Given the description of an element on the screen output the (x, y) to click on. 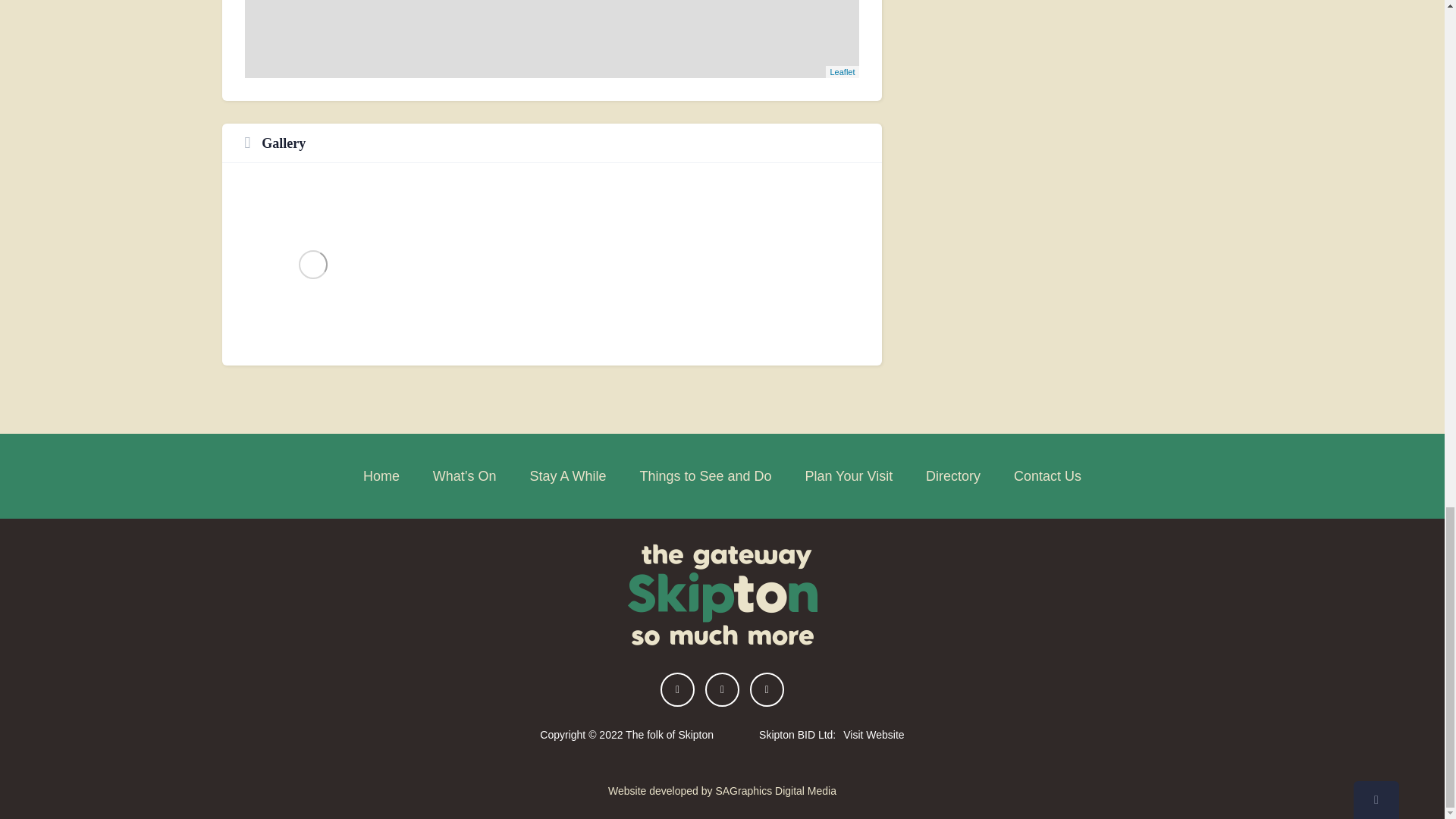
A JS library for interactive maps (841, 71)
